Given the description of an element on the screen output the (x, y) to click on. 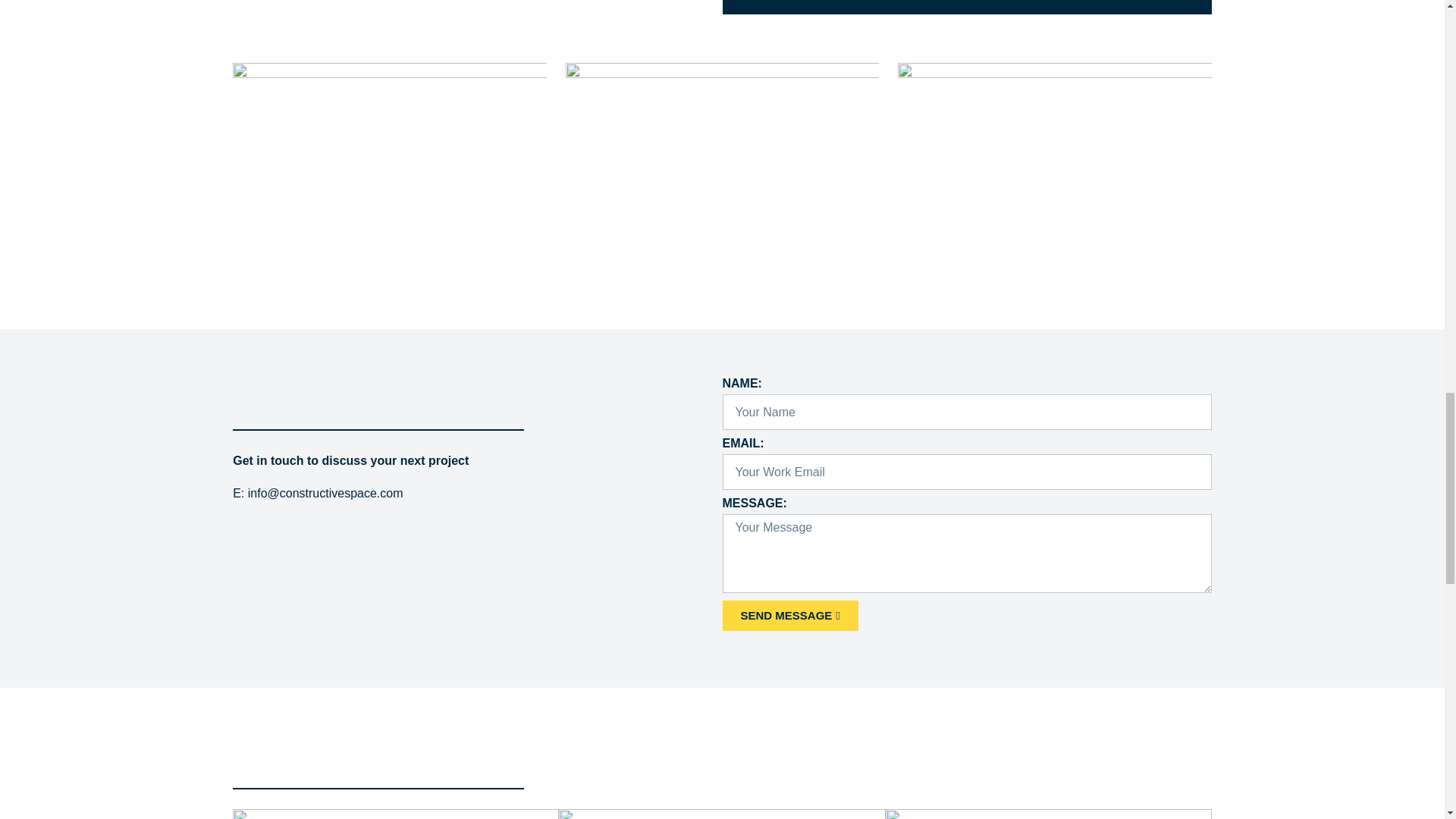
SEND MESSAGE (789, 615)
